Given the description of an element on the screen output the (x, y) to click on. 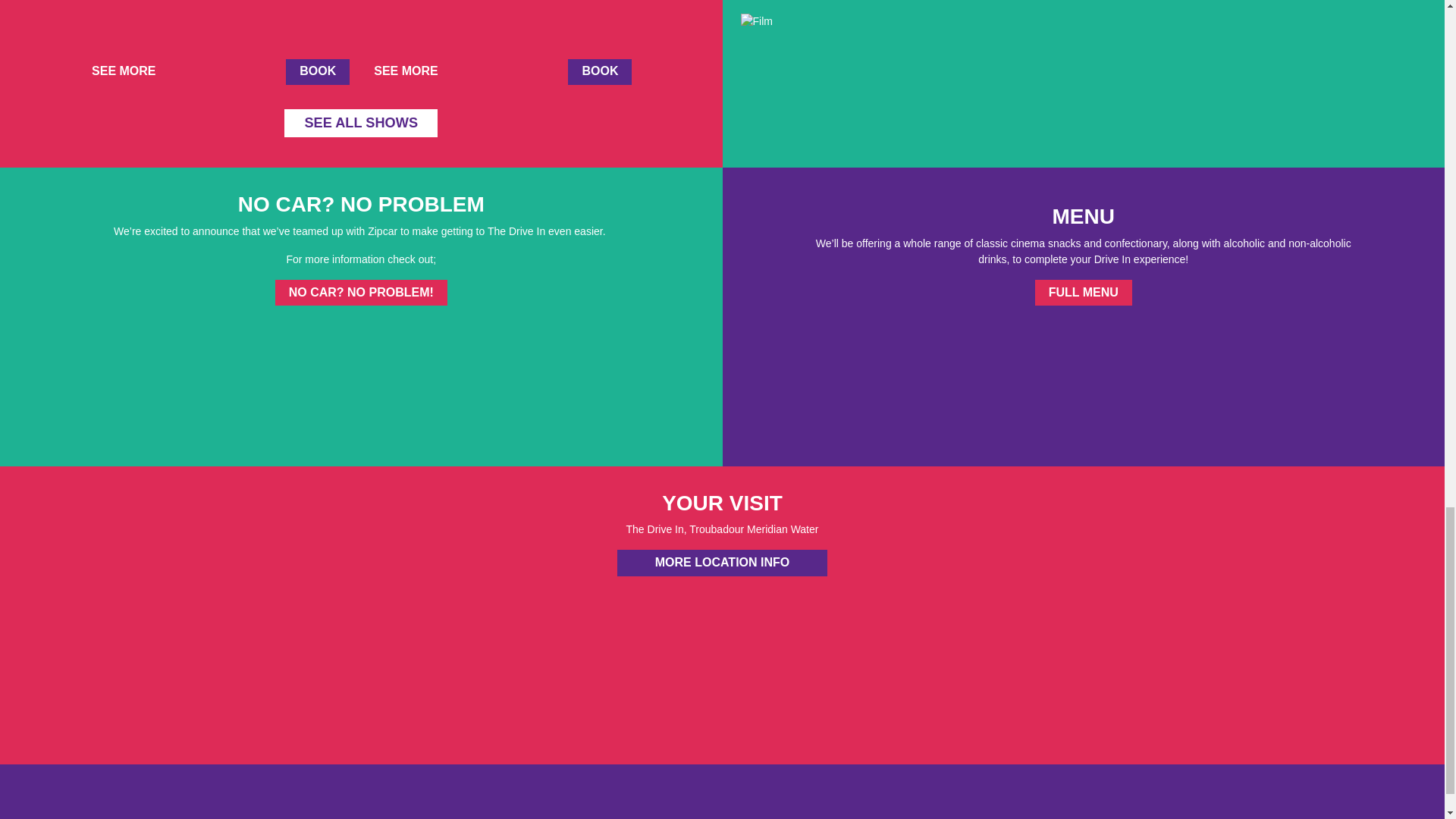
BOOK (317, 71)
FULL MENU (1083, 292)
MORE LOCATION INFO (722, 562)
NO CAR? NO PROBLEM! (360, 292)
BOOK (599, 71)
SEE MORE (411, 71)
SEE ALL SHOWS (360, 122)
SEE MORE (129, 71)
